Given the description of an element on the screen output the (x, y) to click on. 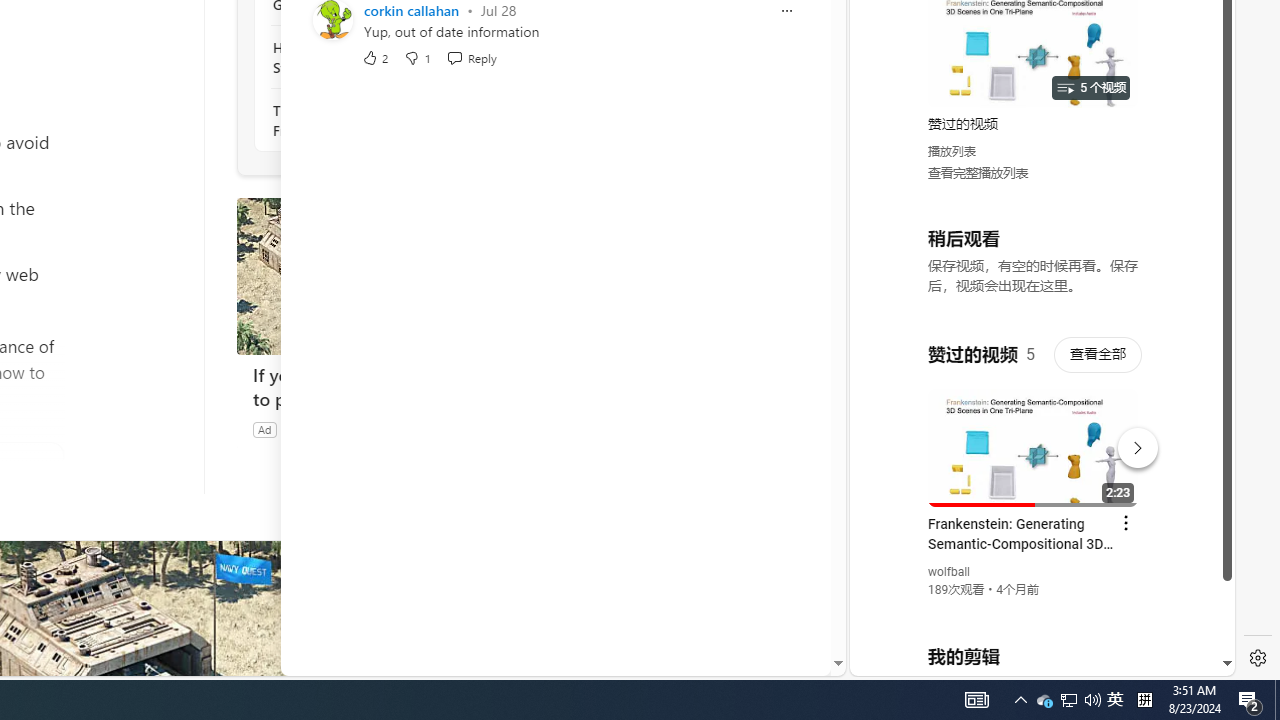
Global web icon (888, 432)
Settings (1258, 658)
See more (526, 564)
